Given the description of an element on the screen output the (x, y) to click on. 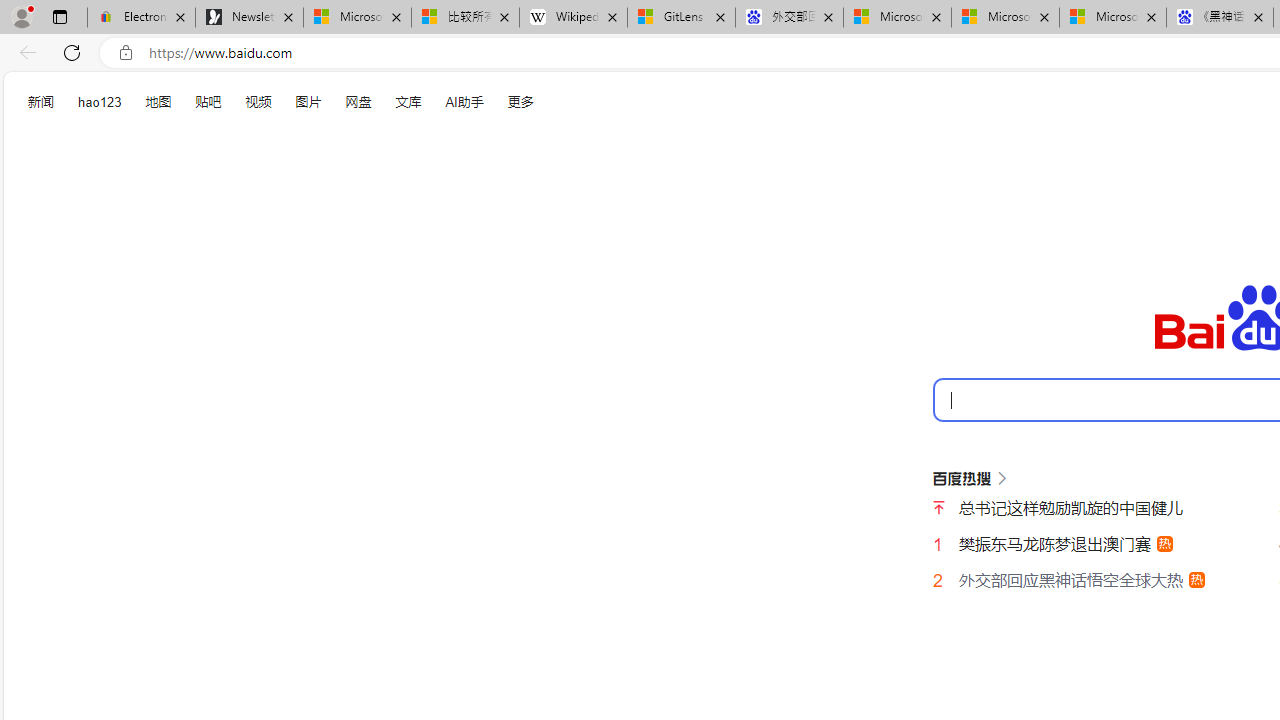
Newsletter Sign Up (249, 17)
